Given the description of an element on the screen output the (x, y) to click on. 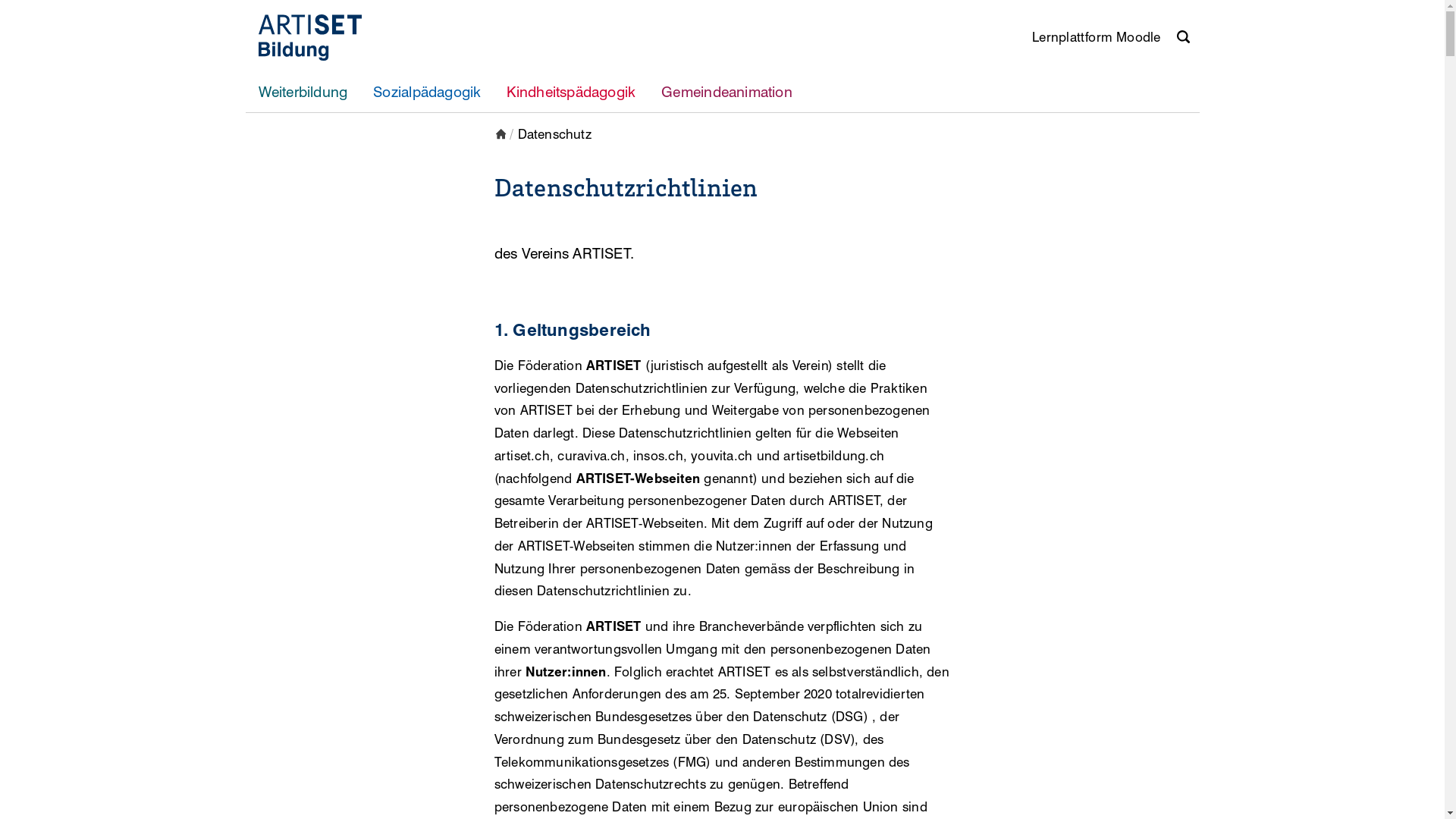
Lernplattform Moodle Element type: text (1096, 37)
Datenschutz Element type: text (554, 133)
Weiterbildung Element type: text (302, 92)
Gemeindeanimation Element type: text (726, 92)
